Given the description of an element on the screen output the (x, y) to click on. 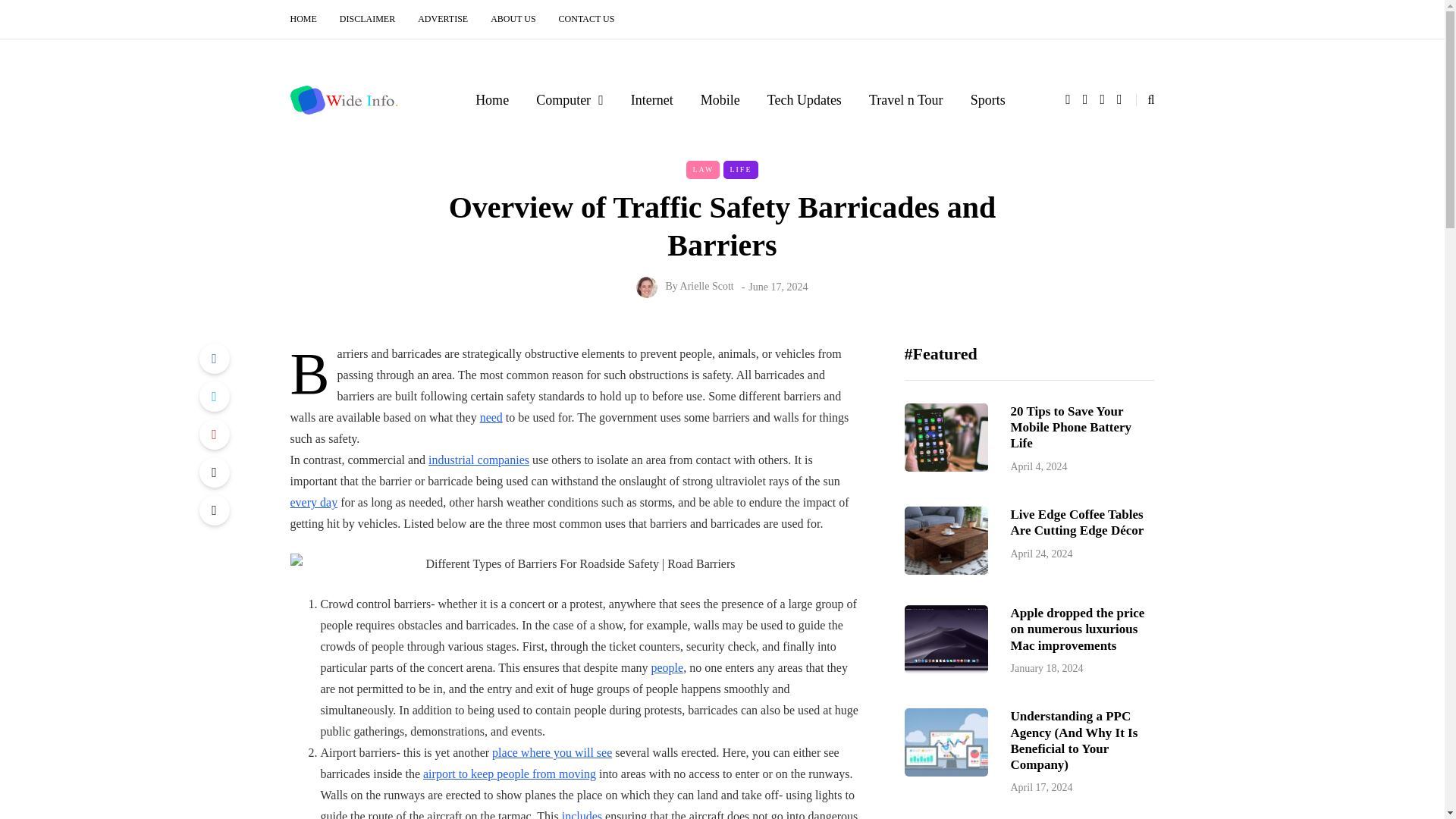
Mobile (720, 99)
Computer (569, 99)
HOME (308, 19)
Overview of Traffic Safety Barricades and Barriers 1 (574, 563)
Tweet this (213, 396)
Posts by Arielle Scott (706, 285)
Internet (652, 99)
Sports (987, 99)
Tech Updates (805, 99)
Share by Email (213, 510)
ADVERTISE (442, 19)
ABOUT US (513, 19)
Search (43, 15)
Travel n Tour (906, 99)
DISCLAIMER (367, 19)
